Given the description of an element on the screen output the (x, y) to click on. 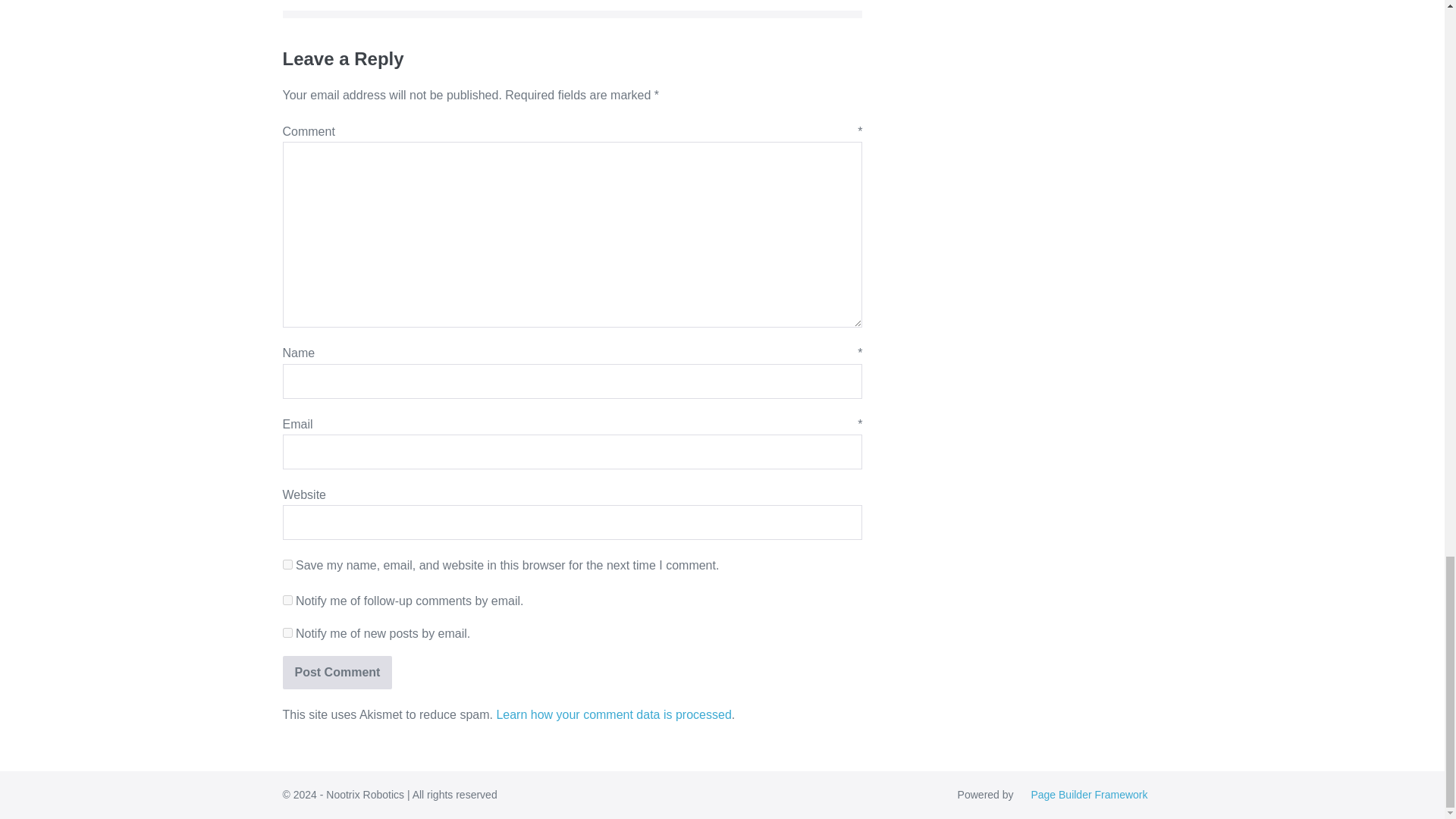
Learn how your comment data is processed (613, 714)
Post Comment (336, 672)
Post Comment (336, 672)
subscribe (287, 600)
yes (287, 564)
subscribe (287, 633)
